Given the description of an element on the screen output the (x, y) to click on. 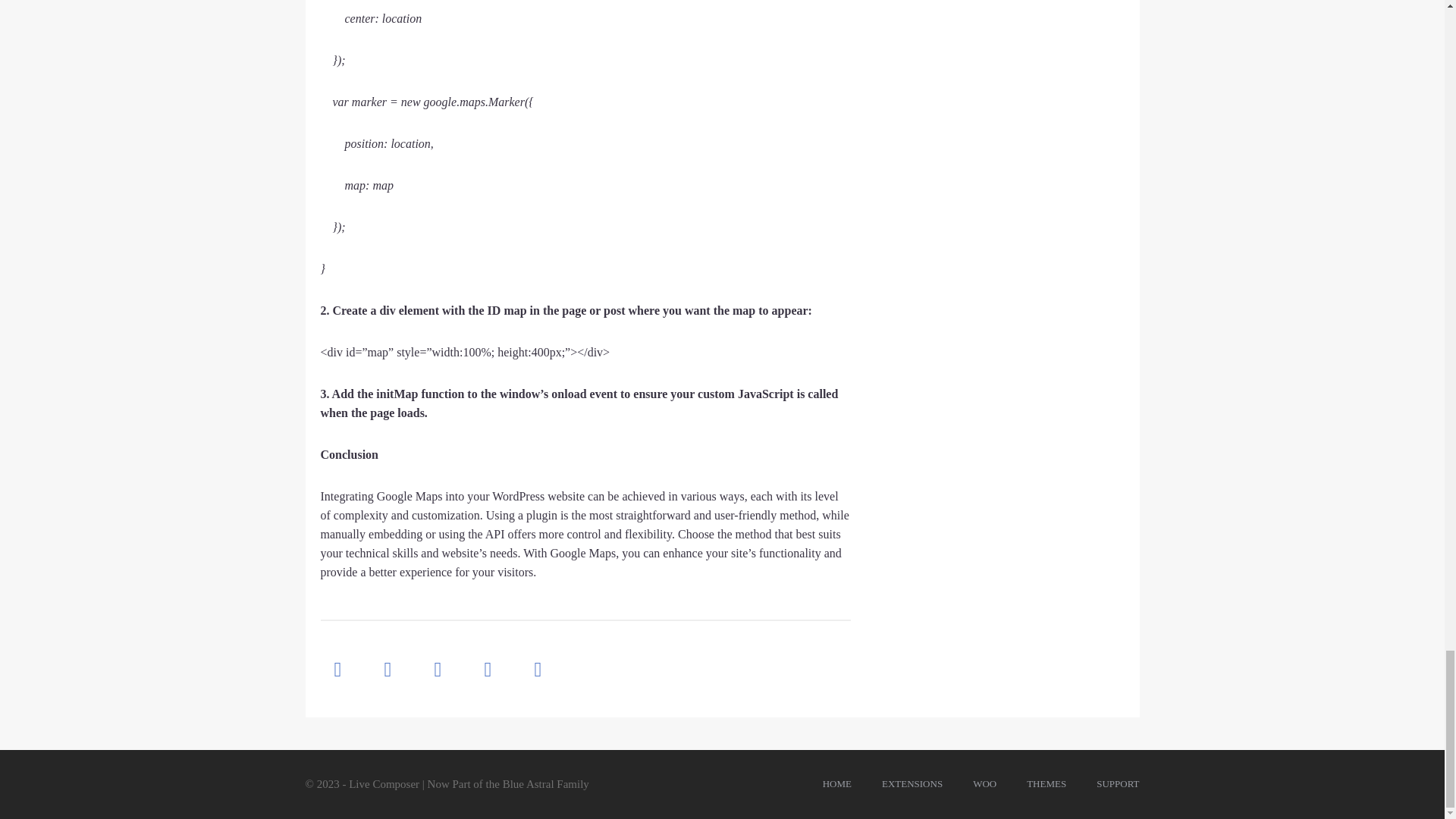
SUPPORT (1117, 783)
HOME (836, 783)
EXTENSIONS (912, 783)
THEMES (1045, 783)
WOO (983, 783)
